Given the description of an element on the screen output the (x, y) to click on. 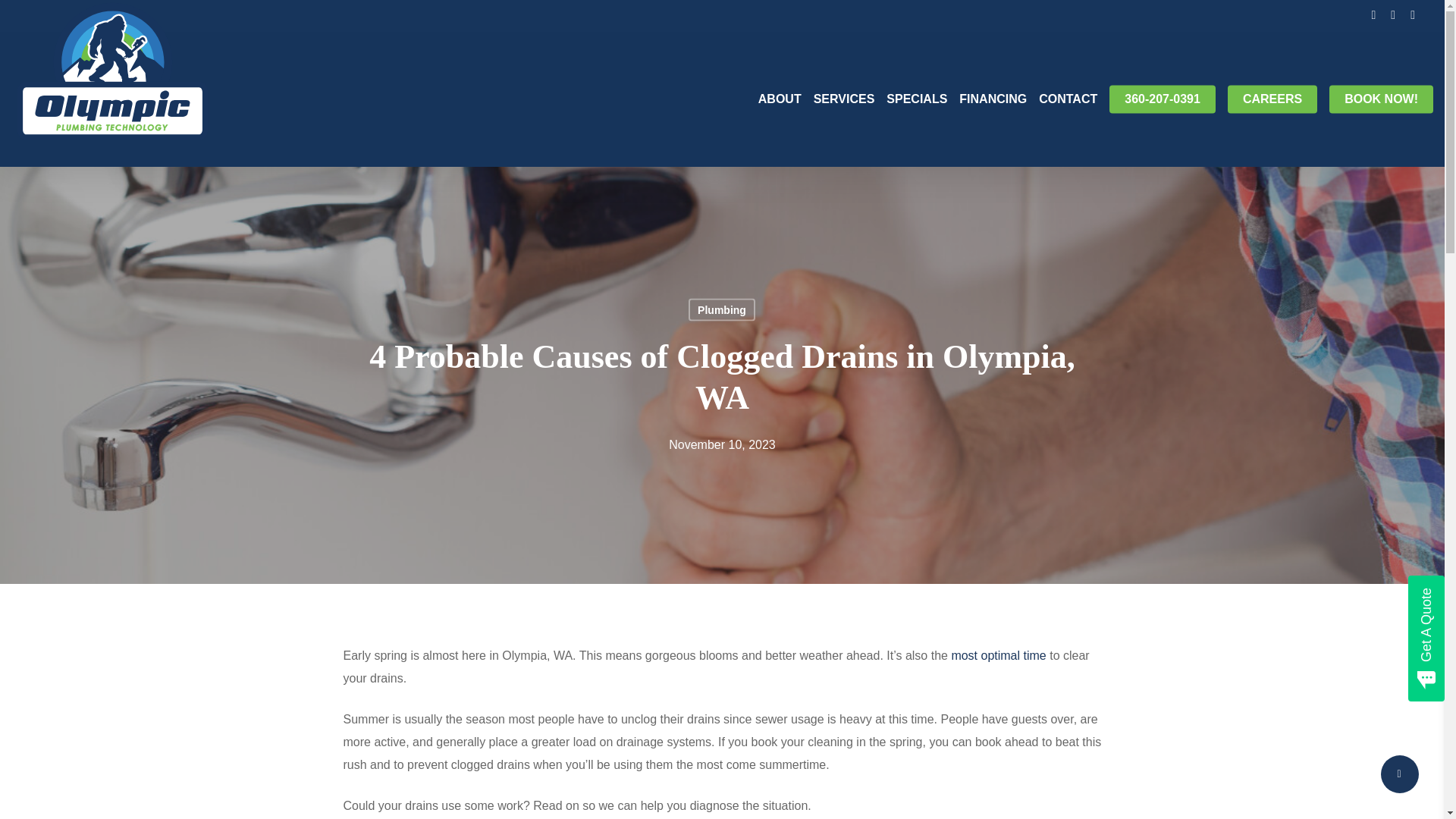
Plumbing (721, 309)
360-207-0391 (1162, 99)
CAREERS (1272, 99)
BOOK NOW! (1380, 99)
CONTACT (1067, 99)
SPECIALS (916, 99)
most optimal time (997, 655)
ABOUT (780, 99)
SERVICES (844, 99)
FINANCING (992, 99)
